Given the description of an element on the screen output the (x, y) to click on. 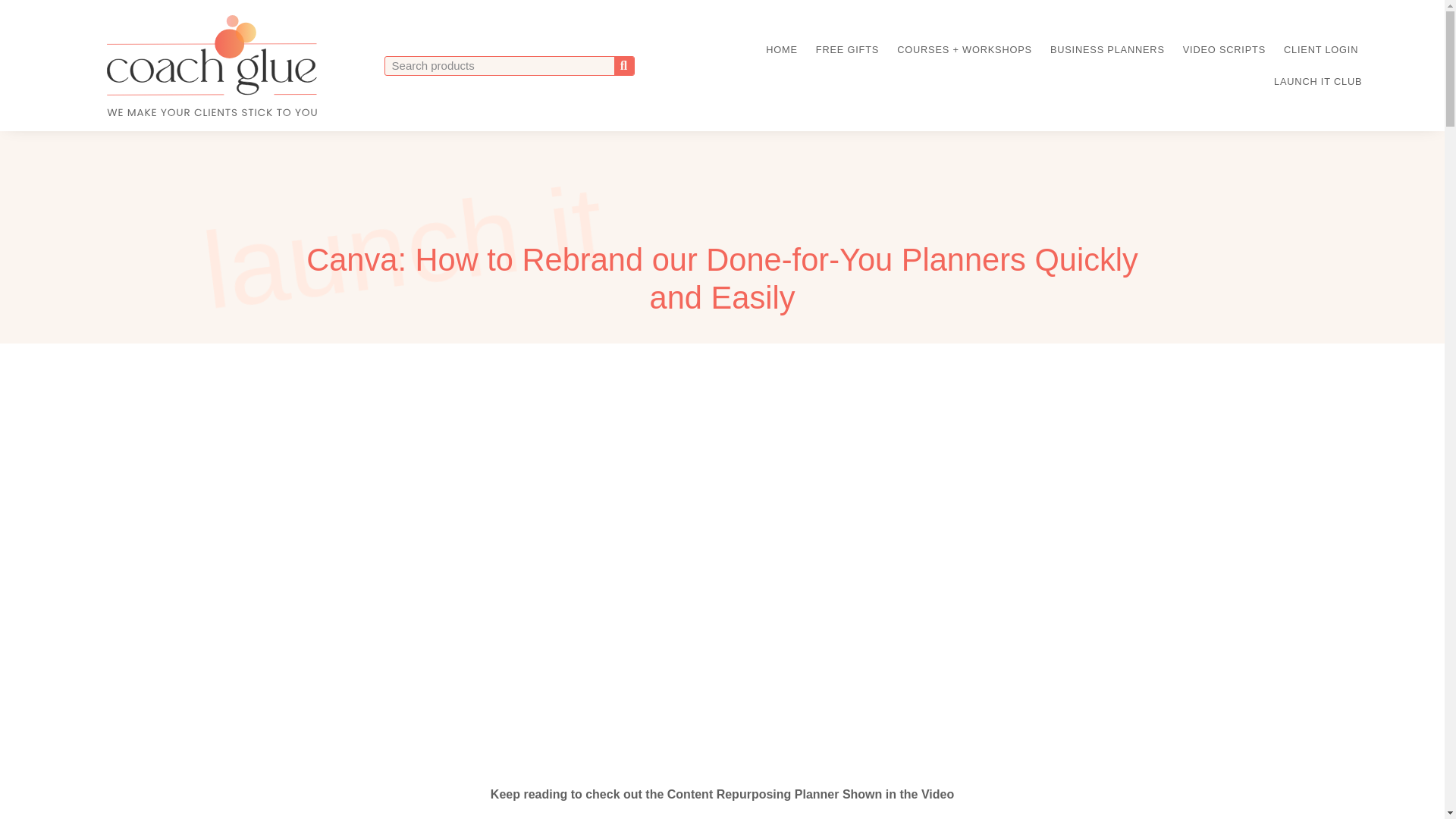
LAUNCH IT CLUB (1317, 81)
VIDEO SCRIPTS (1224, 49)
FREE GIFTS (846, 49)
CLIENT LOGIN (1320, 49)
BUSINESS PLANNERS (1107, 49)
HOME (781, 49)
